Given the description of an element on the screen output the (x, y) to click on. 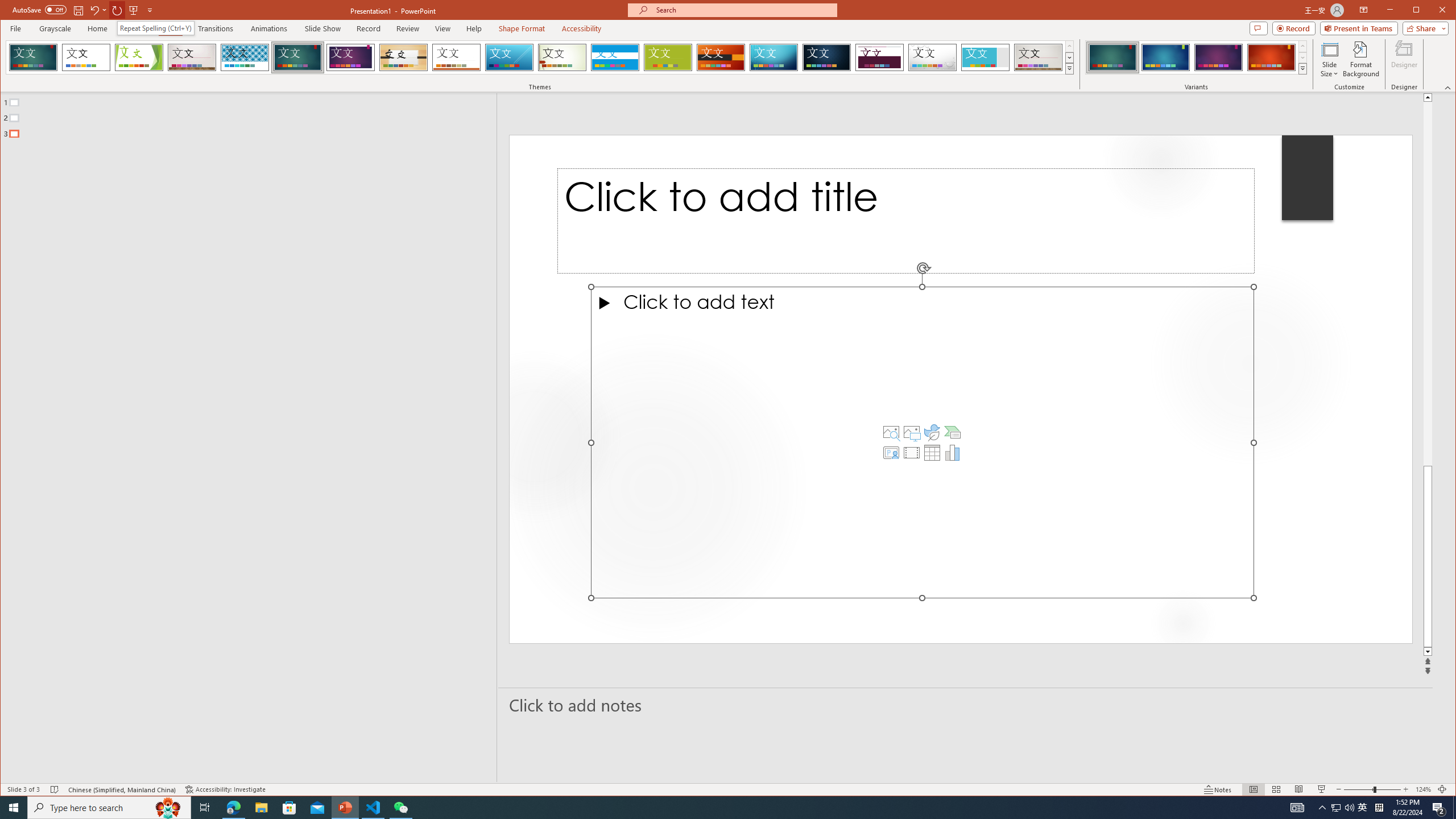
Microsoft Edge - 1 running window (233, 807)
Insert Chart (952, 452)
Circuit (773, 57)
Insert an Icon (931, 432)
Stock Images (890, 432)
Wisp (561, 57)
